Given the description of an element on the screen output the (x, y) to click on. 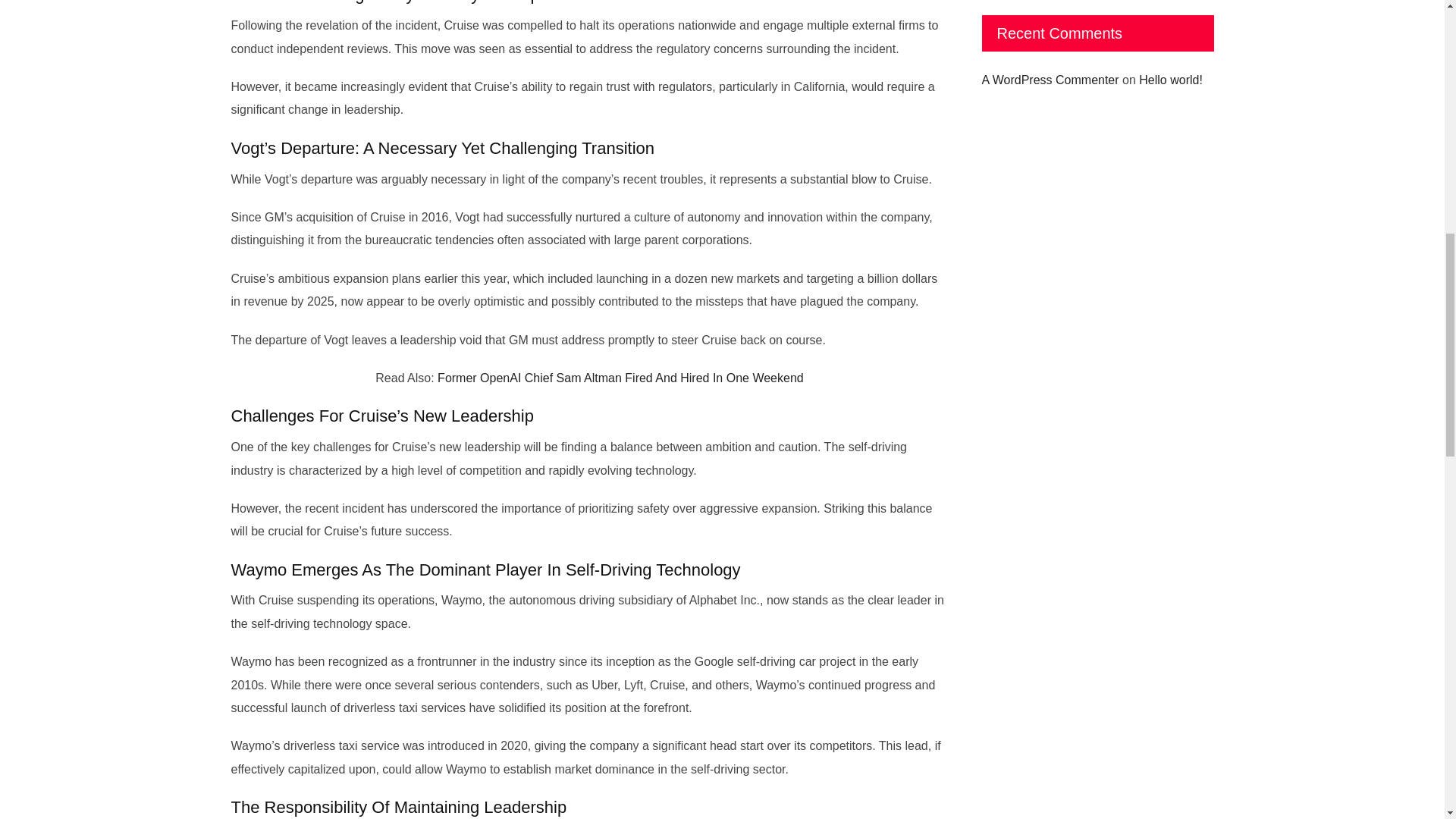
Hello world! (1170, 79)
A WordPress Commenter (1049, 79)
